Given the description of an element on the screen output the (x, y) to click on. 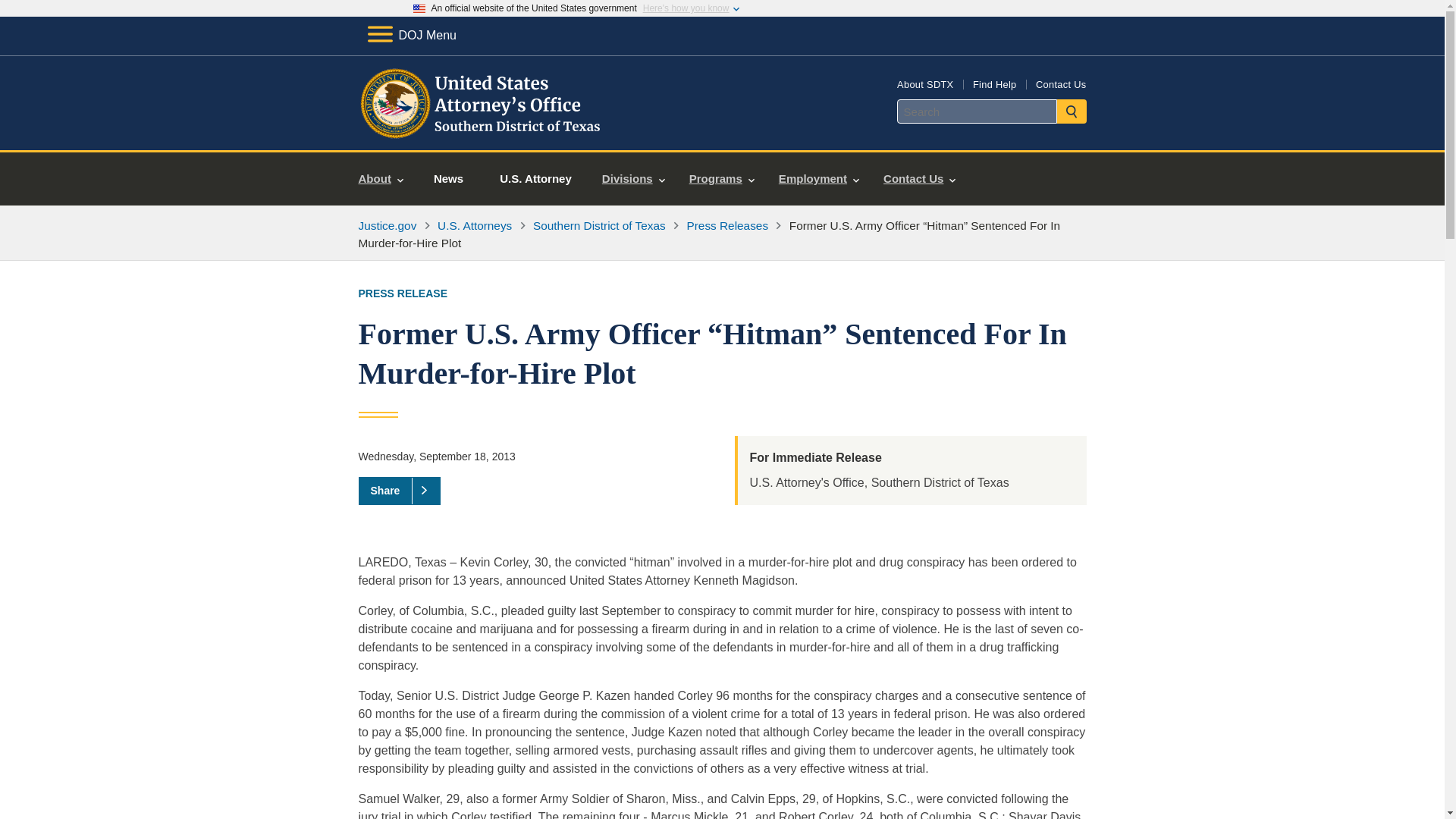
Find Help (994, 84)
Press Releases (727, 225)
Divisions (633, 179)
News (447, 179)
Home (481, 132)
Contact Us (919, 179)
U.S. Attorneys (475, 225)
Share (398, 490)
Employment (818, 179)
Here's how you know (686, 8)
About (380, 179)
About SDTX (924, 84)
Justice.gov (387, 225)
Contact Us (1060, 84)
Southern District of Texas (598, 225)
